Given the description of an element on the screen output the (x, y) to click on. 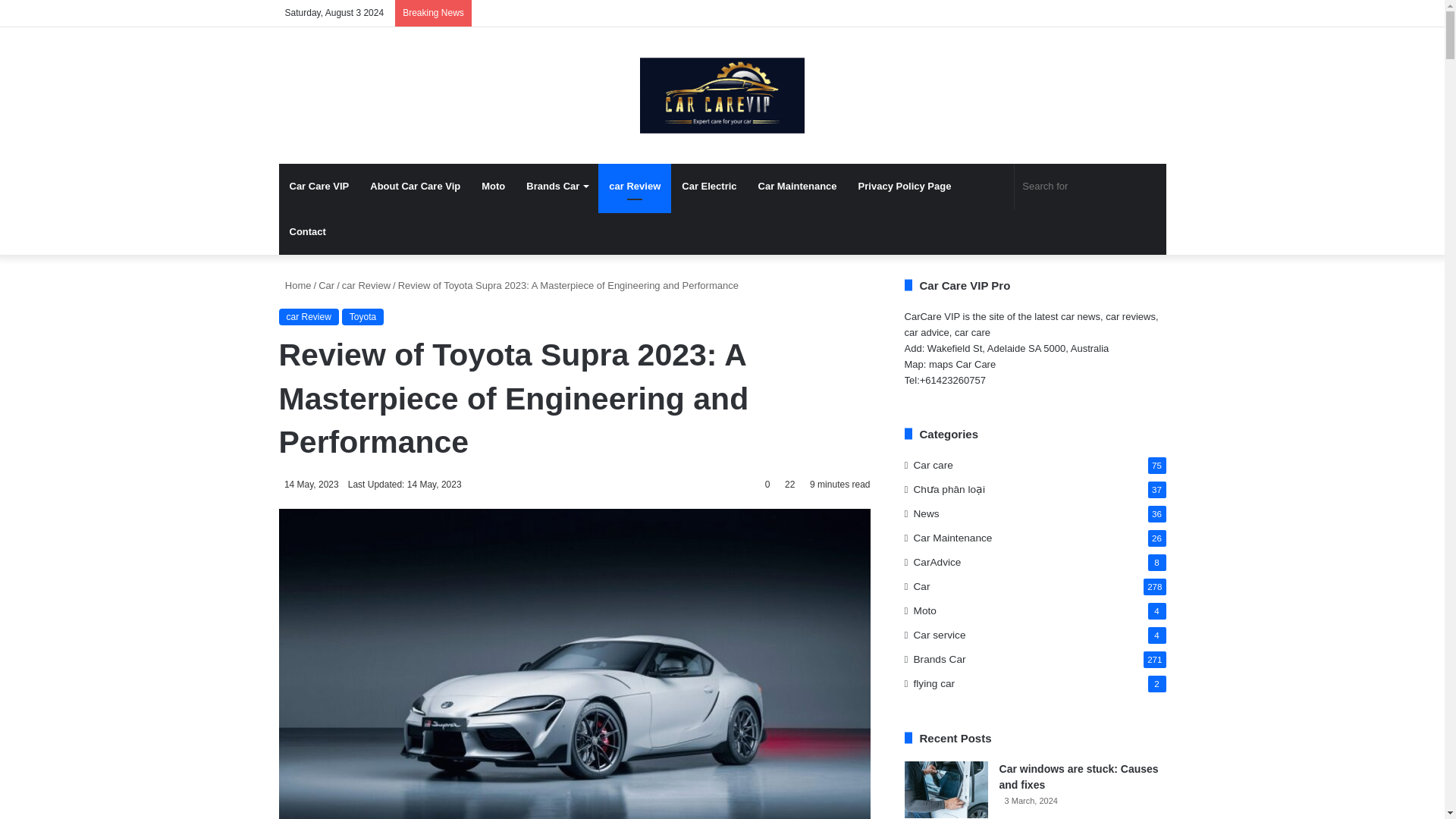
Moto (492, 186)
About Car Care Vip (414, 186)
Search for (1090, 186)
Car Maintenance (797, 186)
Contact (307, 231)
Car Care Vip Pro (722, 95)
Brands Car (556, 186)
Car Electric (708, 186)
Privacy Policy Page (904, 186)
